Given the description of an element on the screen output the (x, y) to click on. 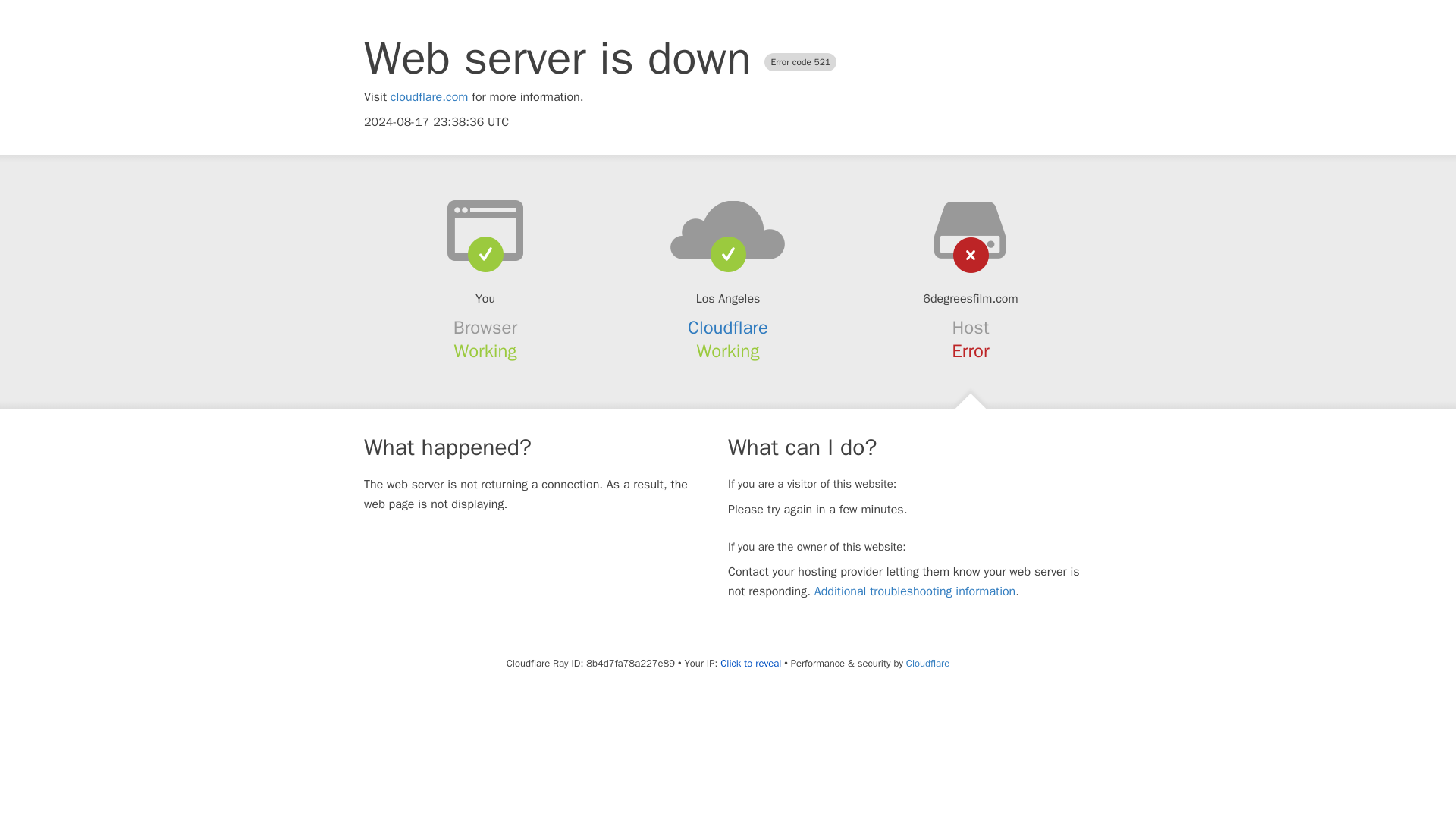
Additional troubleshooting information (913, 590)
Cloudflare (727, 327)
cloudflare.com (429, 96)
Cloudflare (927, 662)
Click to reveal (750, 663)
